Given the description of an element on the screen output the (x, y) to click on. 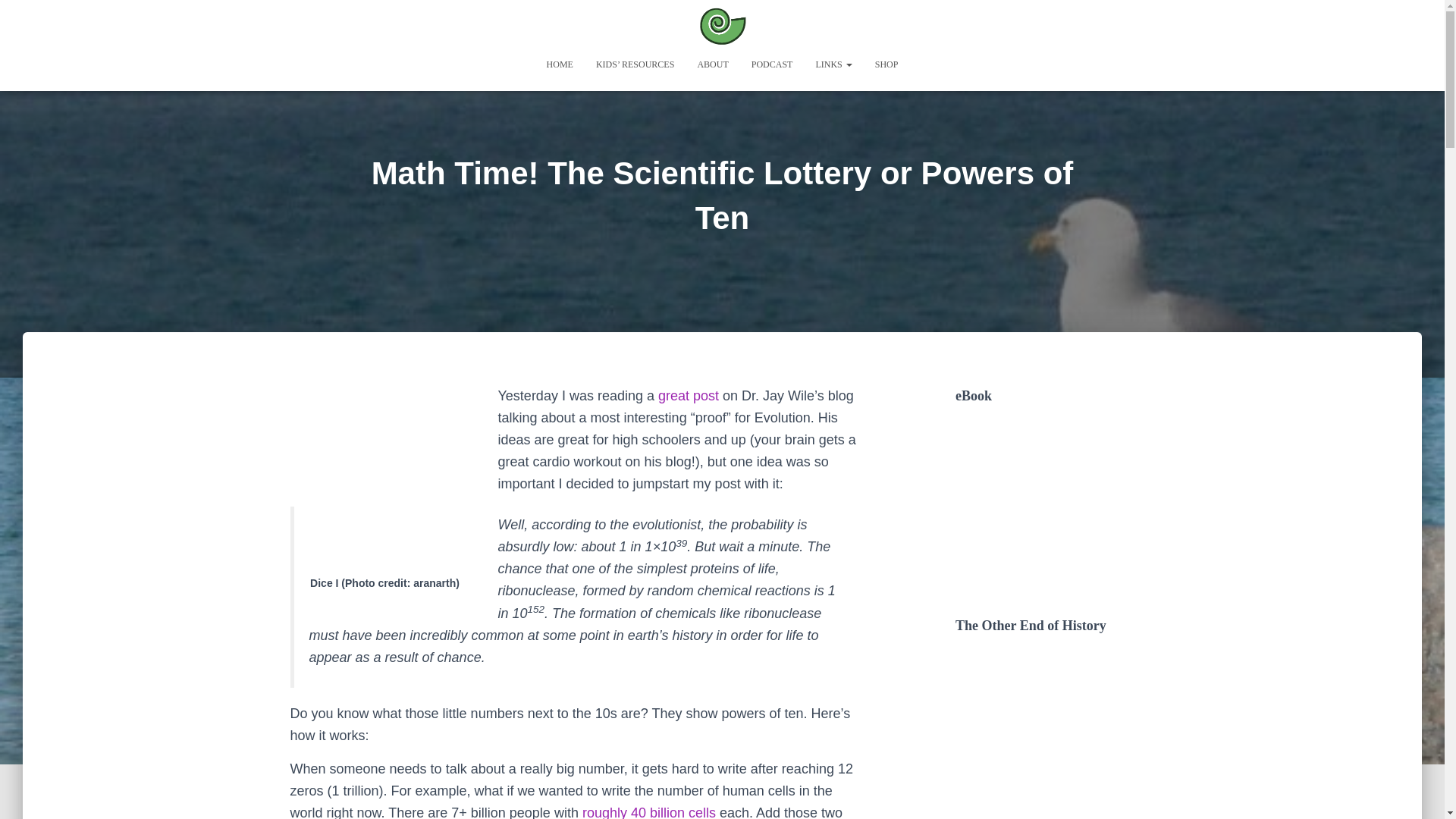
Home (560, 64)
Podcast (772, 64)
Creation Science 4 Kids (721, 26)
About (712, 64)
LINKS (833, 64)
PODCAST (772, 64)
Shop (886, 64)
roughly 40 billion cells (649, 812)
SHOP (886, 64)
ABOUT (712, 64)
